Given the description of an element on the screen output the (x, y) to click on. 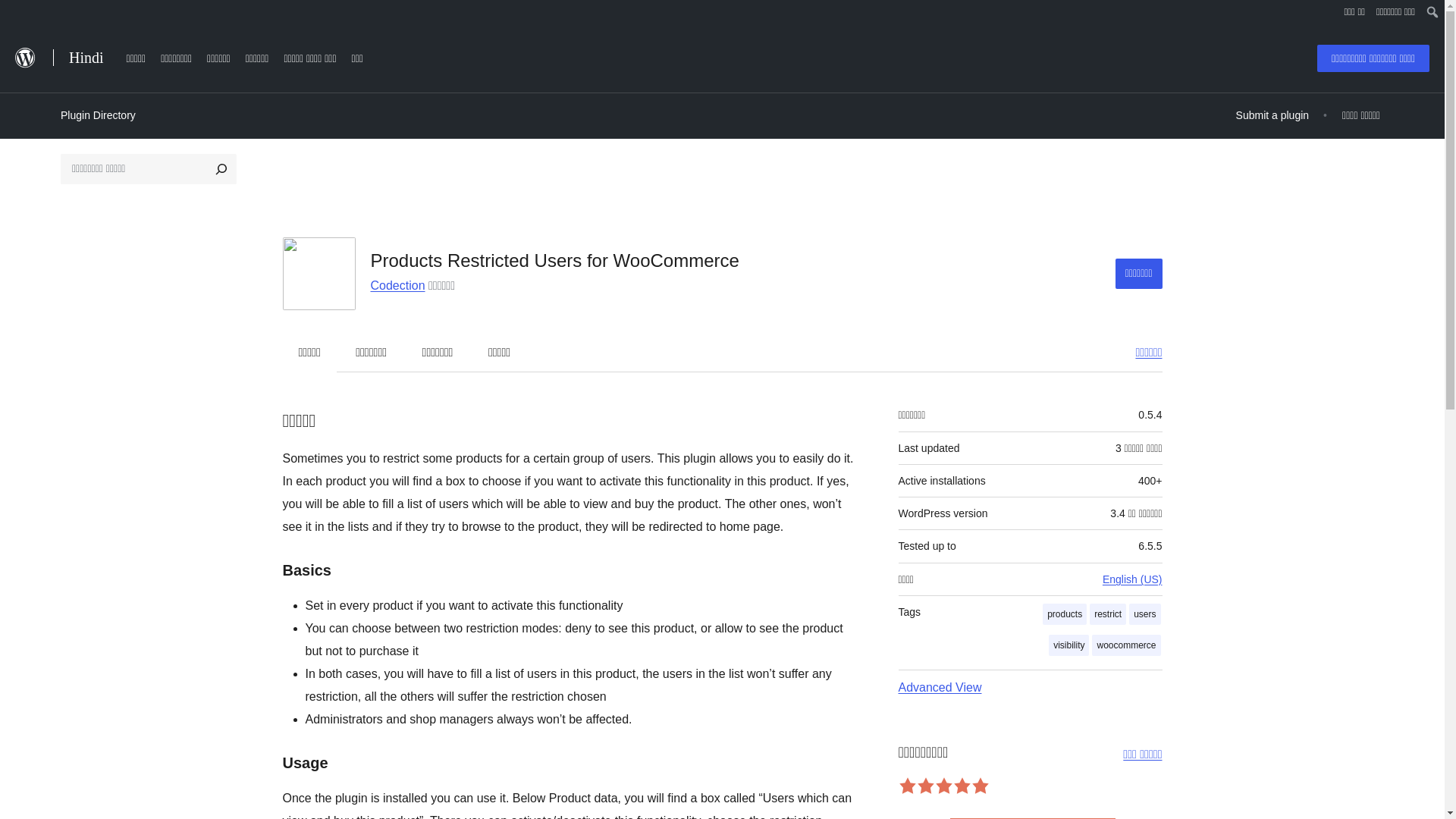
Submit a plugin (1272, 115)
Plugin Directory (97, 115)
Codection (397, 285)
